Given the description of an element on the screen output the (x, y) to click on. 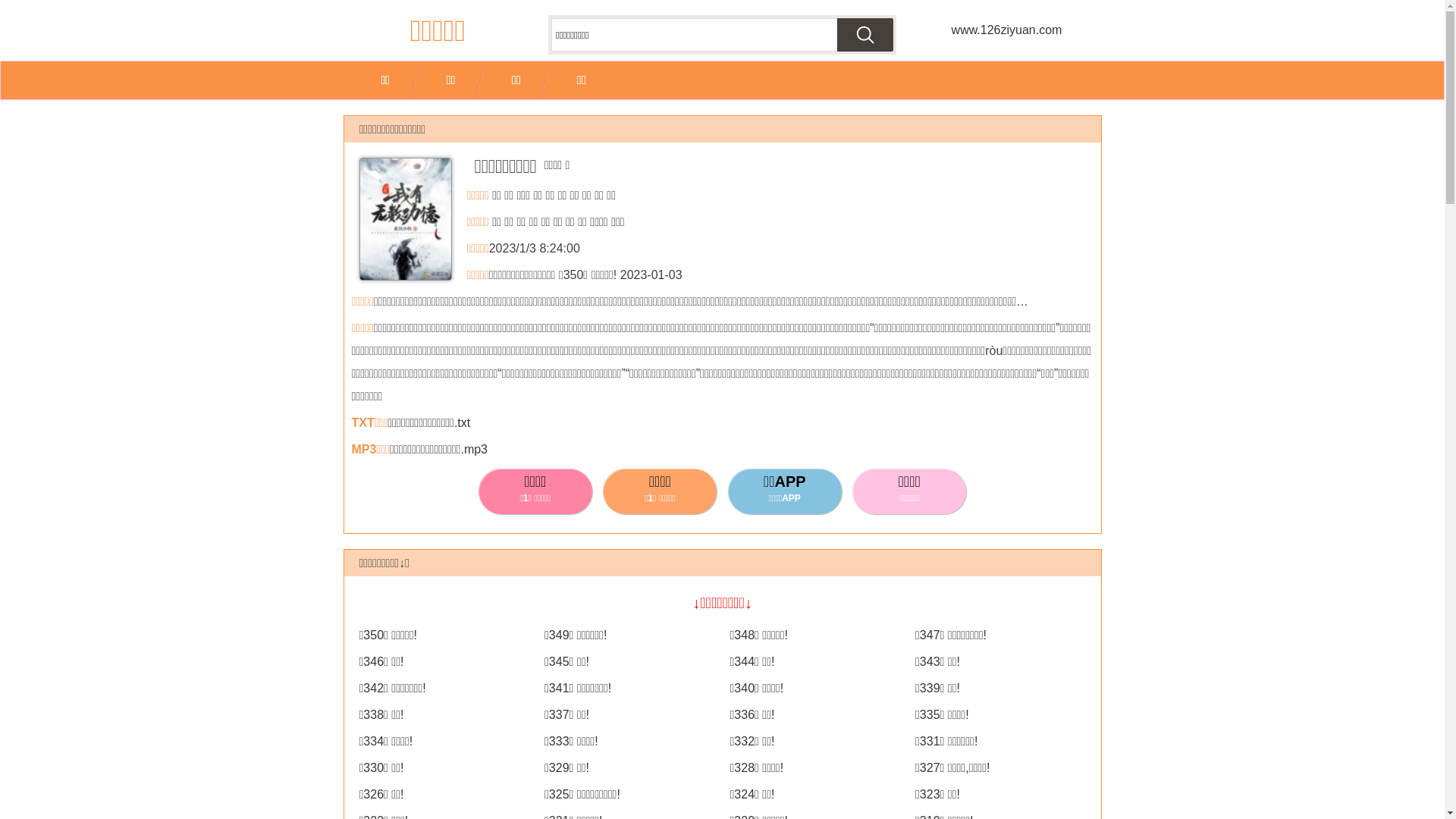
www.126ziyuan.com Element type: text (1006, 30)
